Given the description of an element on the screen output the (x, y) to click on. 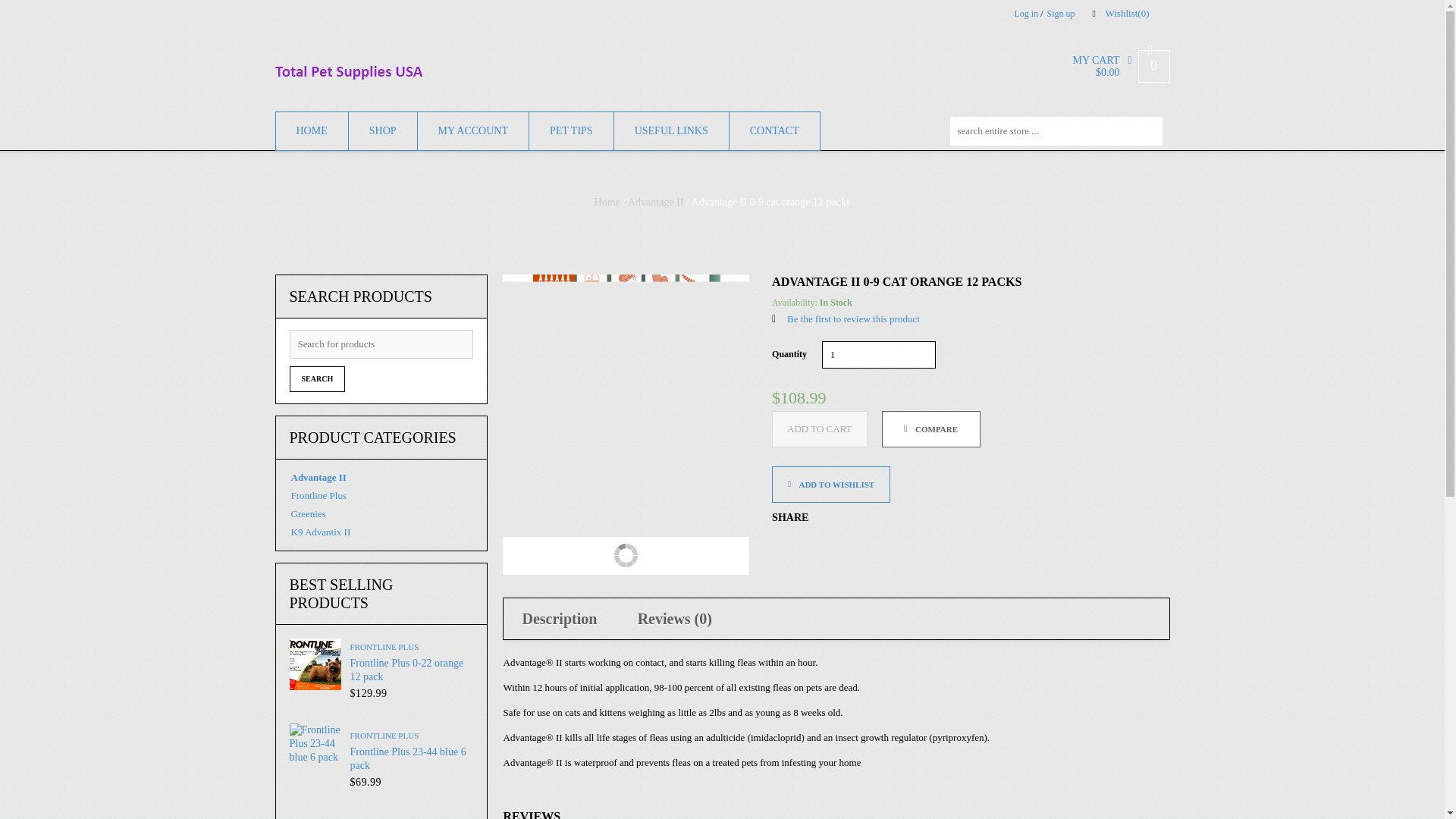
HOME (311, 130)
Advantage II (654, 202)
K9 Advantix II (319, 531)
PET TIPS (571, 130)
Search (317, 379)
MY ACCOUNT (472, 130)
Search (317, 379)
Sign up (1060, 13)
Search (1152, 130)
Create An Account (1060, 13)
